Given the description of an element on the screen output the (x, y) to click on. 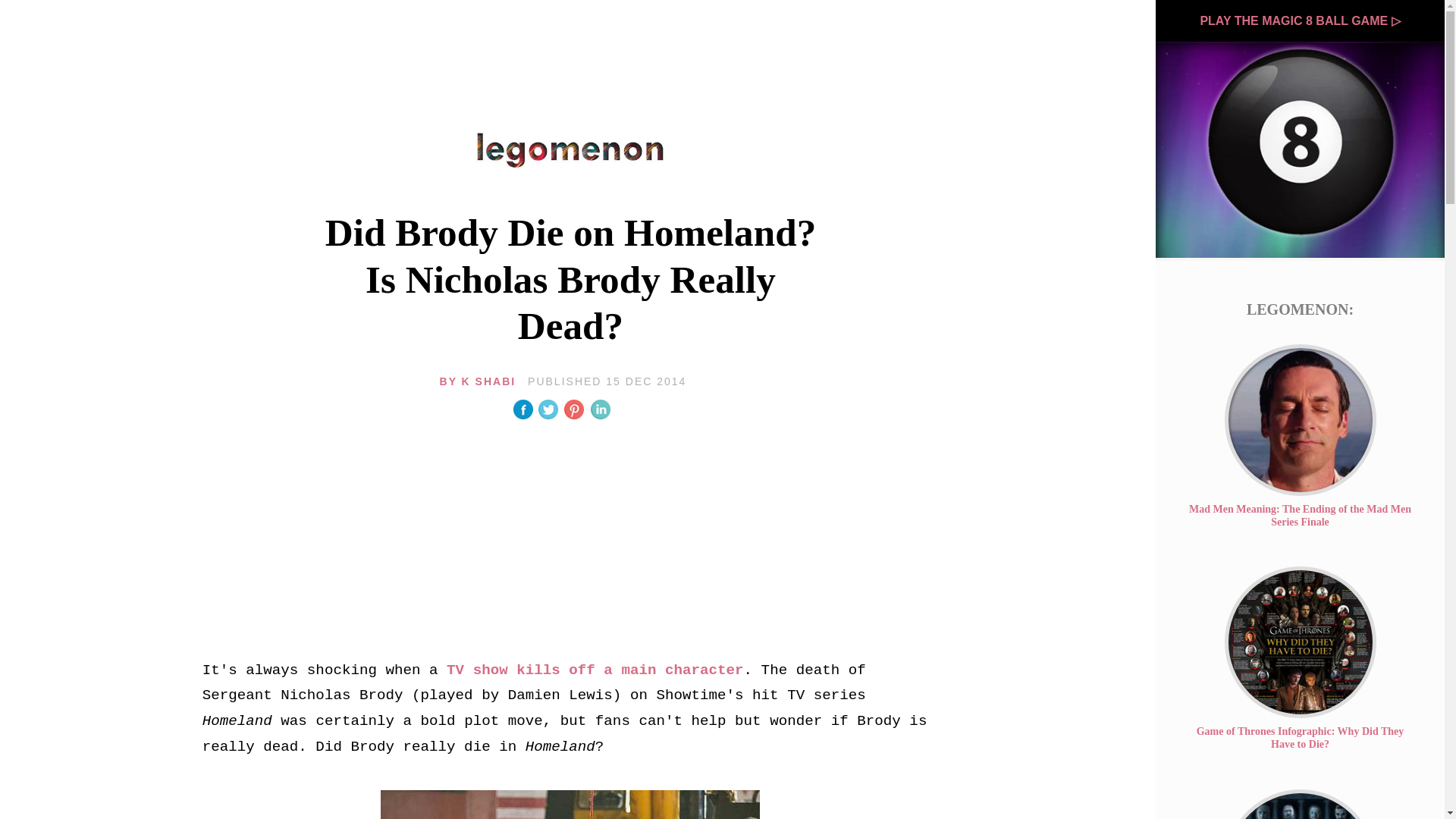
Game of Thrones: Hall of Faces (1299, 804)
Game of Thrones Infographic: Why Did They Have to Die? (1299, 642)
BY K SHABI (363, 381)
Mad Men Meaning: The Ending of the Mad Men Series Finale (1299, 515)
TV show kills off a main character (582, 669)
Game of Thrones Infographic: Why Did They Have to Die? (1300, 737)
Mad Men Meaning: The Ending of the Mad Men Series Finale (1299, 419)
